Given the description of an element on the screen output the (x, y) to click on. 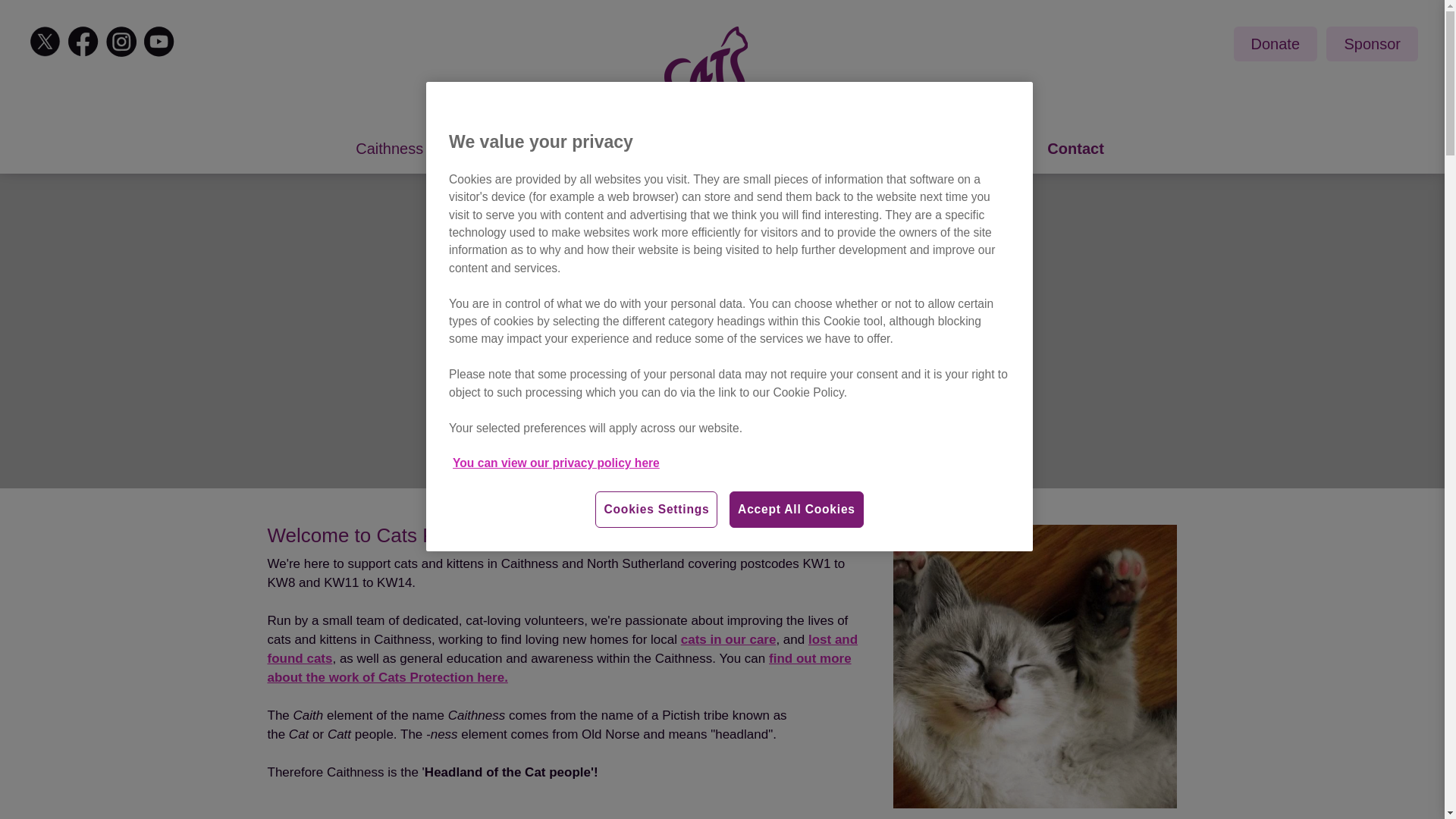
cats in our care (728, 641)
Events (724, 148)
Adopt a Cat (501, 148)
lost and found cats (561, 650)
find out more about the work of Cats Protection here. (558, 669)
Volunteering (831, 148)
Sponsor (1372, 43)
Contact (1075, 148)
Donate (1275, 43)
Support Us (621, 148)
